Given the description of an element on the screen output the (x, y) to click on. 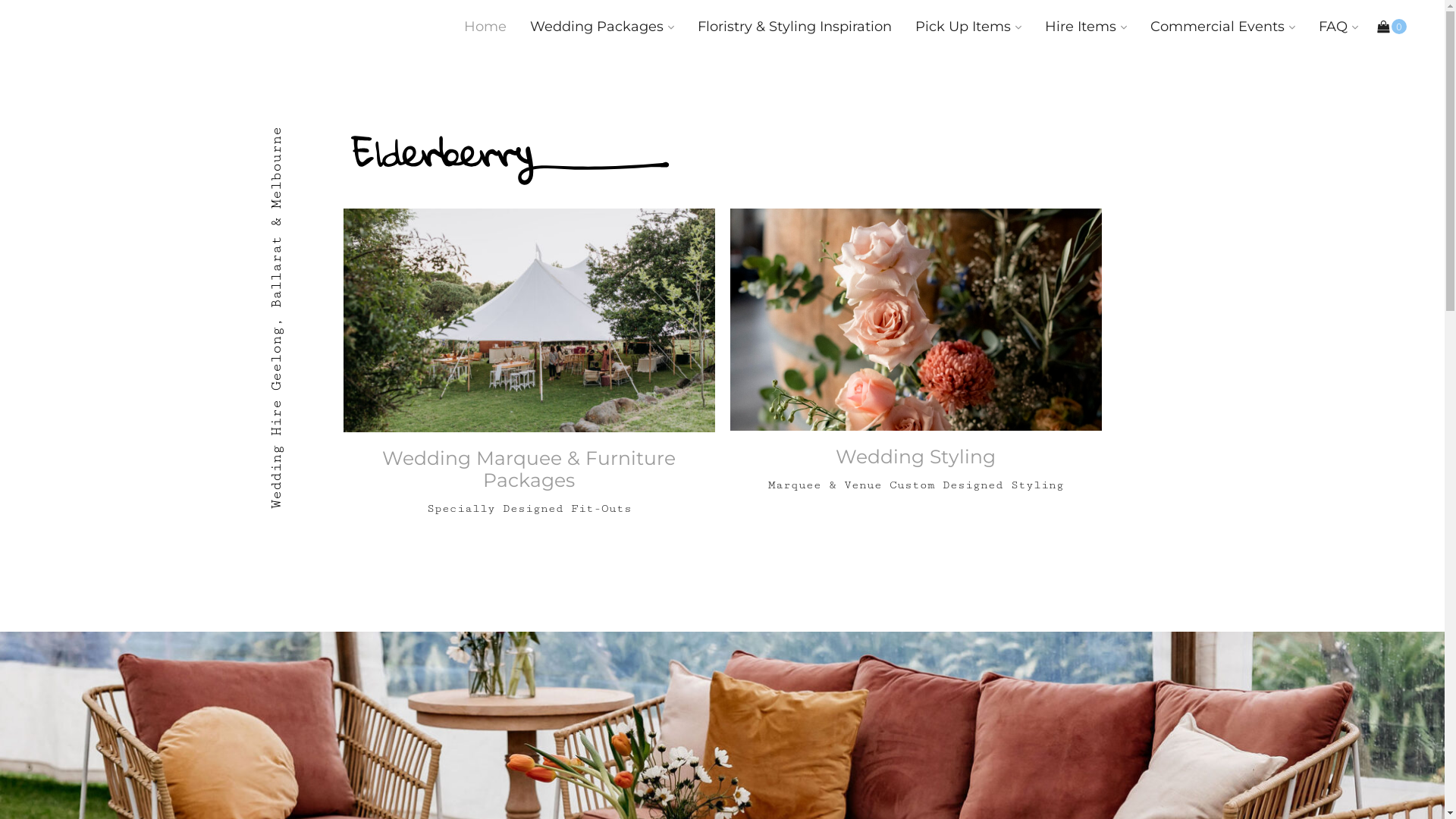
Wedding Packages Element type: text (602, 26)
Commercial Events Element type: text (1222, 26)
Wedding Styling Element type: text (915, 468)
Hire Items Element type: text (1085, 26)
Pick Up Items Element type: text (968, 26)
Floristry & Styling Inspiration Element type: text (794, 26)
FAQ Element type: text (1338, 26)
Home Element type: text (485, 26)
Wedding Marquee & Furniture Packages Element type: text (528, 480)
0 Element type: text (1391, 26)
